Given the description of an element on the screen output the (x, y) to click on. 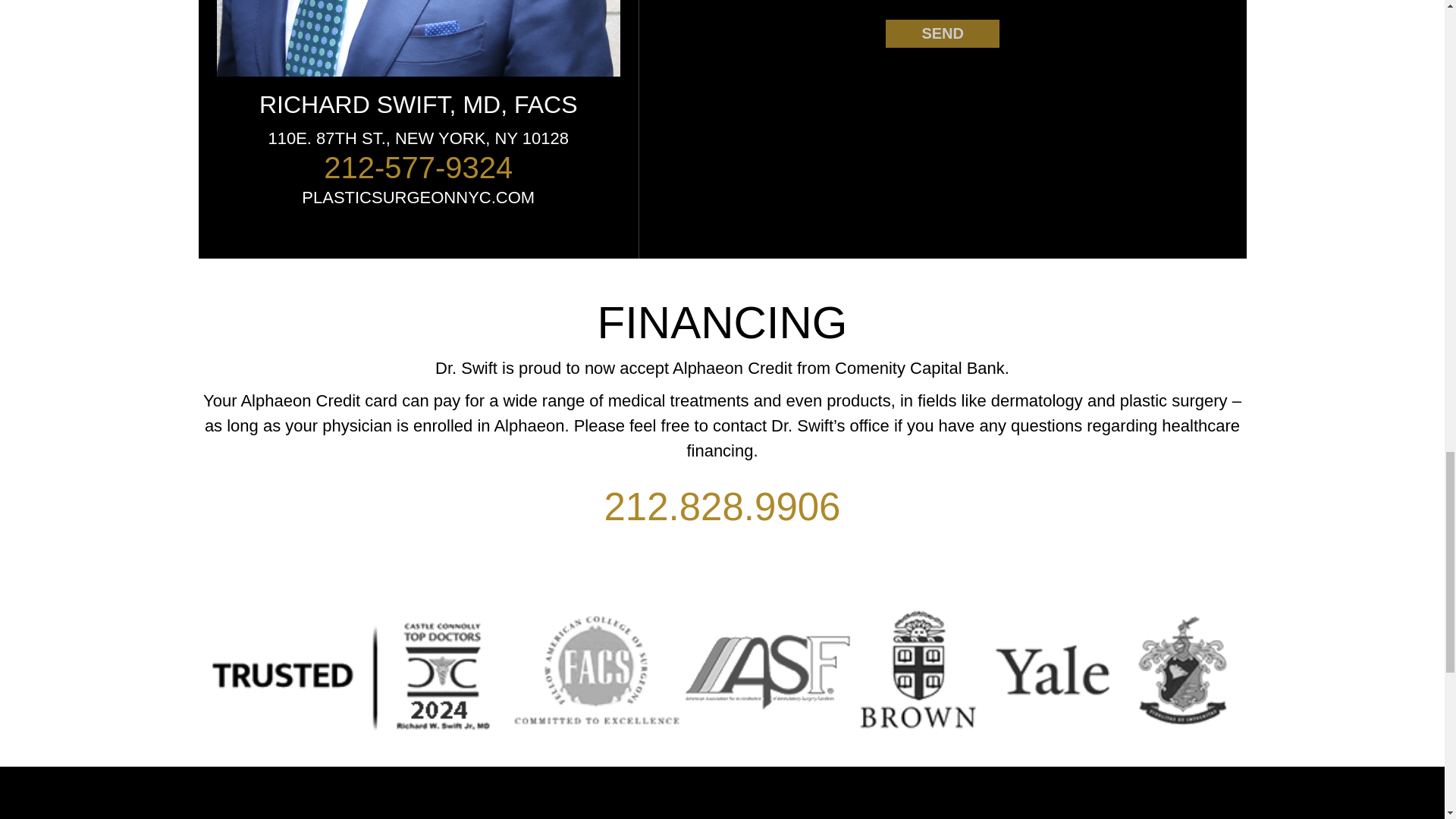
Send (941, 33)
